Given the description of an element on the screen output the (x, y) to click on. 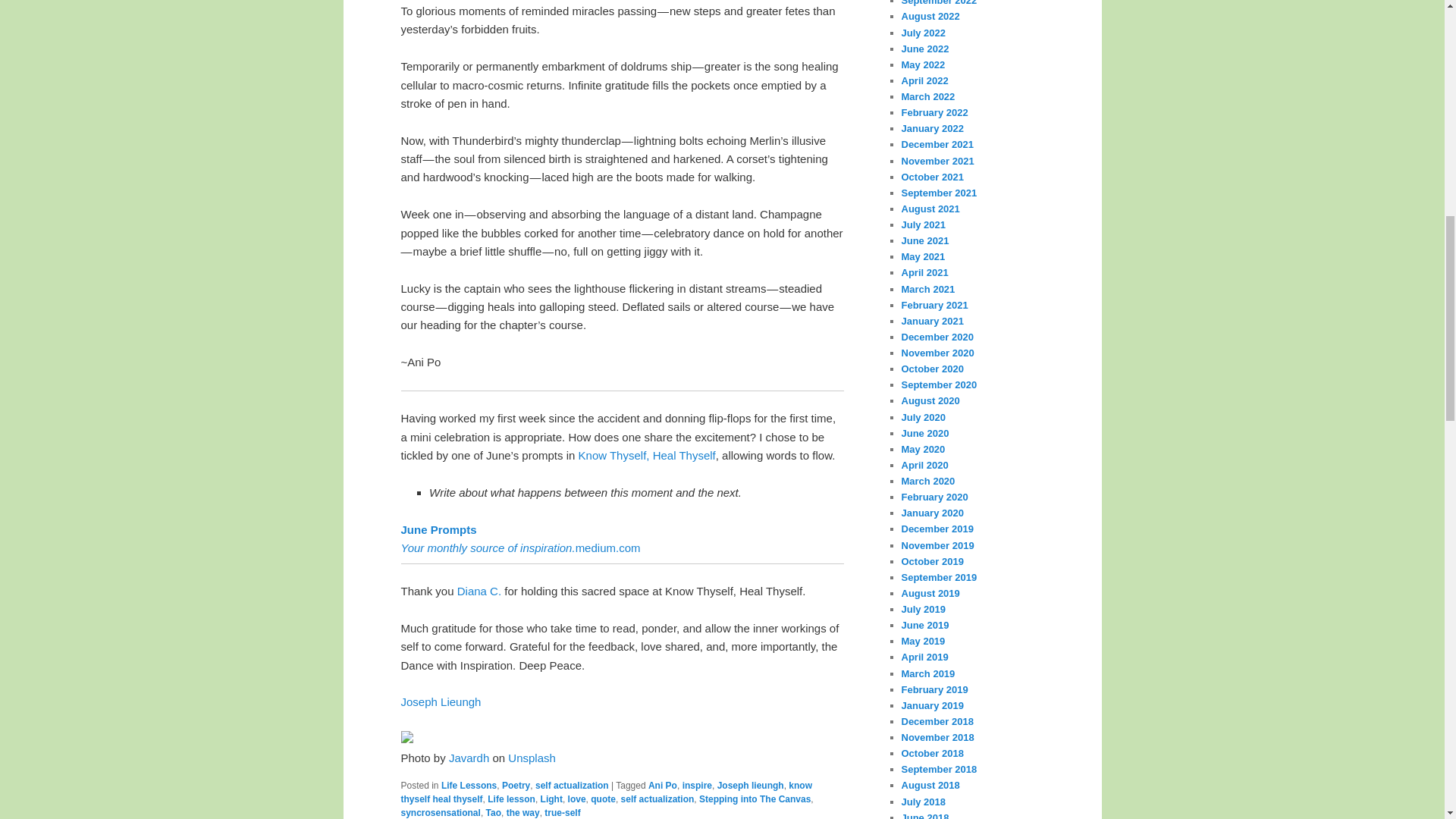
Diana C. (478, 590)
Know Thyself, Heal Thyself (647, 454)
Tao (493, 812)
inspire (696, 785)
self actualization (571, 785)
know thyself heal thyself (606, 792)
Stepping into The Canvas (754, 798)
Scroll back to top (510, 27)
self actualization (657, 798)
Poetry (515, 785)
